Given the description of an element on the screen output the (x, y) to click on. 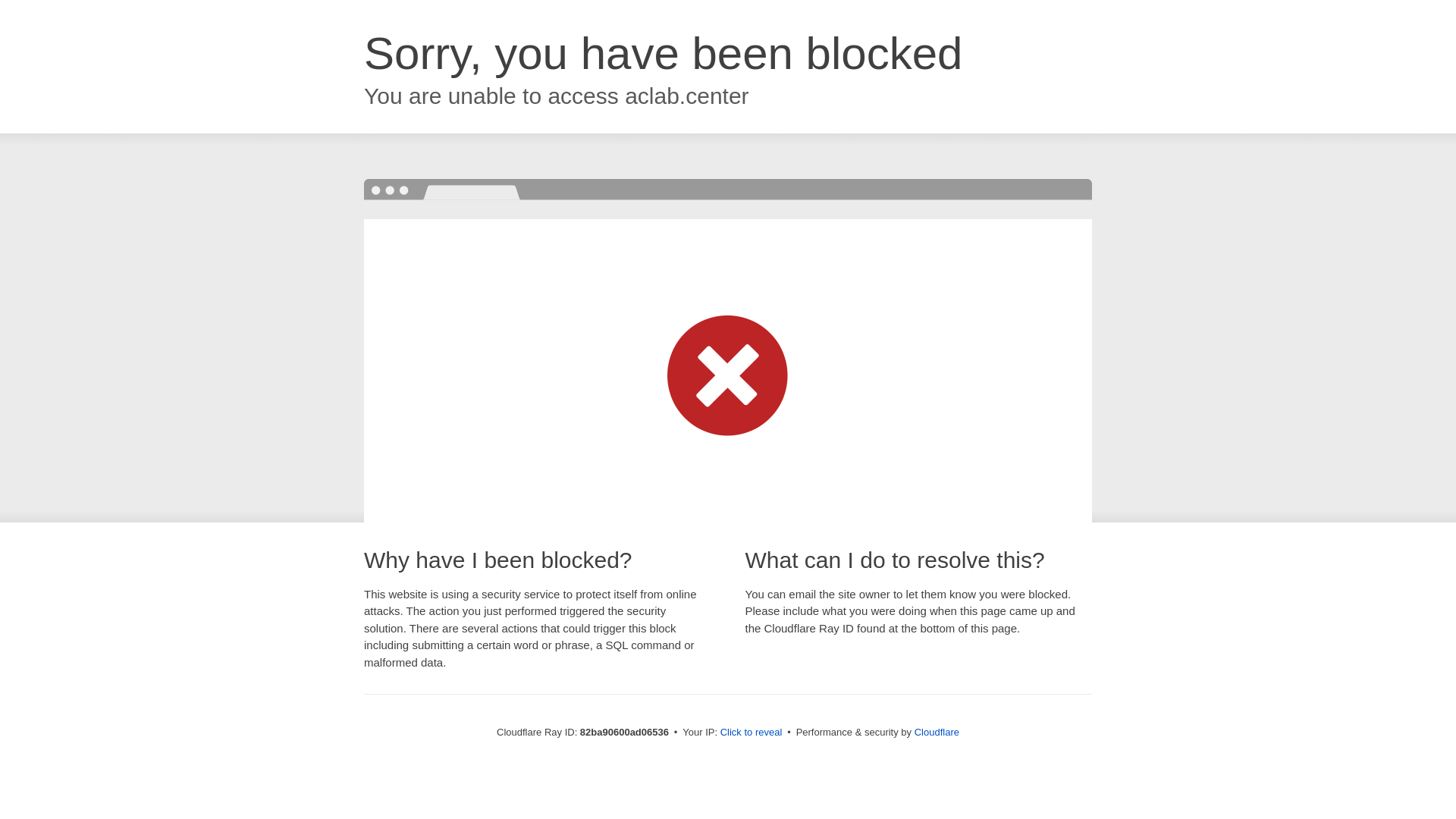
Cloudflare Element type: text (936, 731)
Click to reveal Element type: text (751, 732)
